Given the description of an element on the screen output the (x, y) to click on. 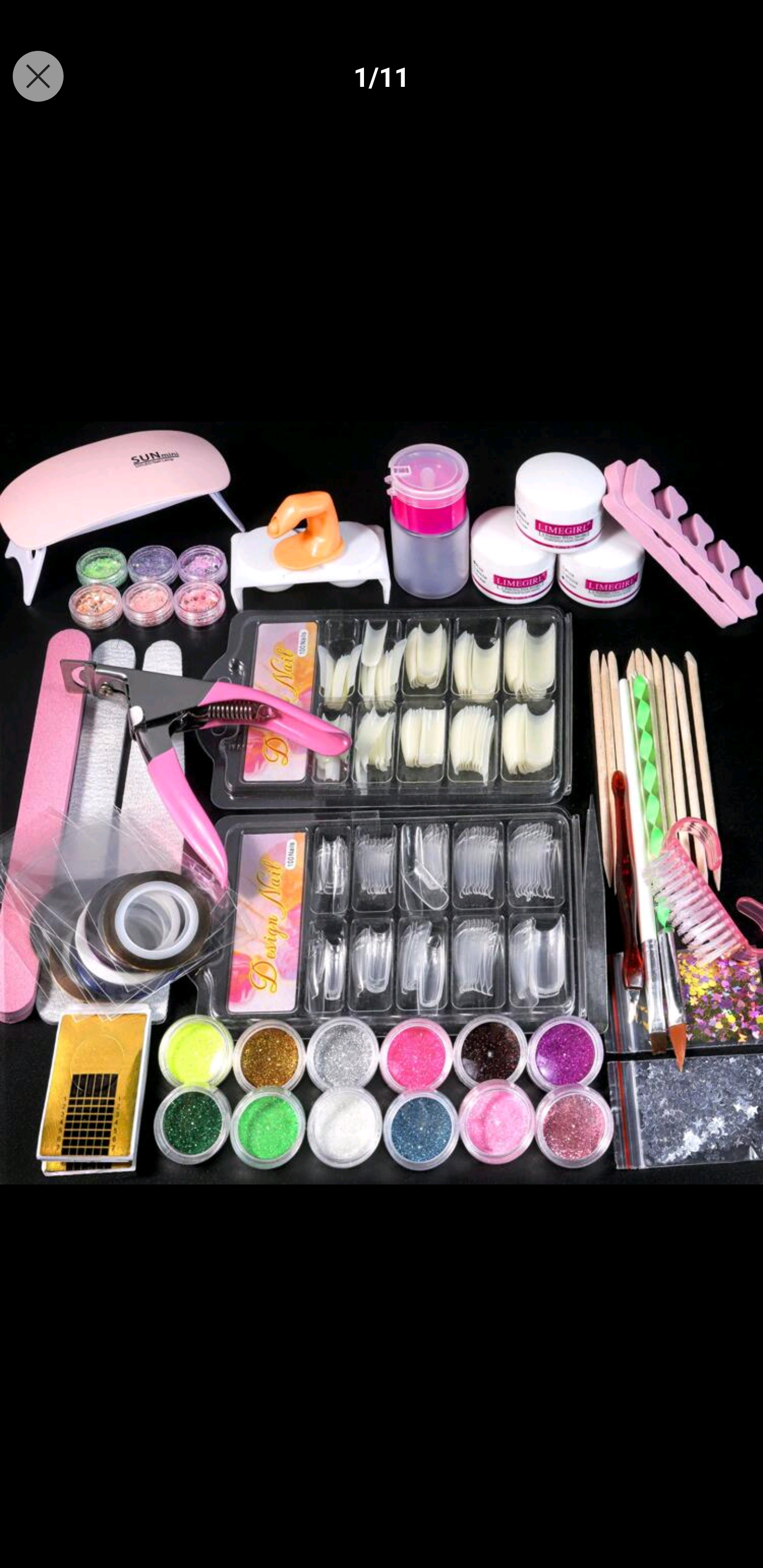
BACK (38, 75)
